Given the description of an element on the screen output the (x, y) to click on. 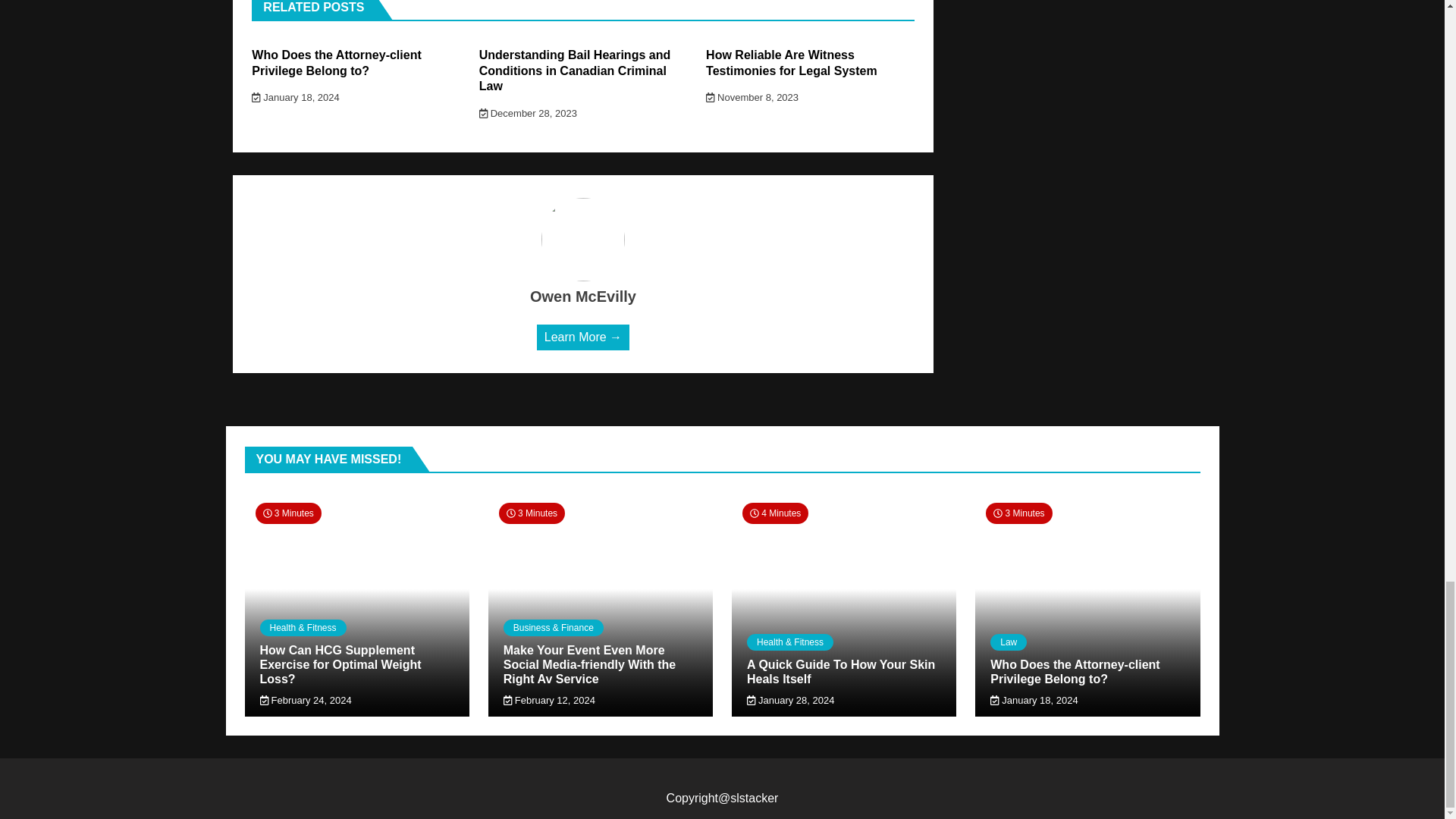
Estimated Reading Time of Article (775, 513)
Estimated Reading Time of Article (287, 513)
How Reliable Are Witness Testimonies for Legal System (791, 62)
Who Does the Attorney-client Privilege Belong to? (335, 62)
December 28, 2023 (527, 112)
Estimated Reading Time of Article (1018, 513)
Estimated Reading Time of Article (531, 513)
January 18, 2024 (295, 97)
